Given the description of an element on the screen output the (x, y) to click on. 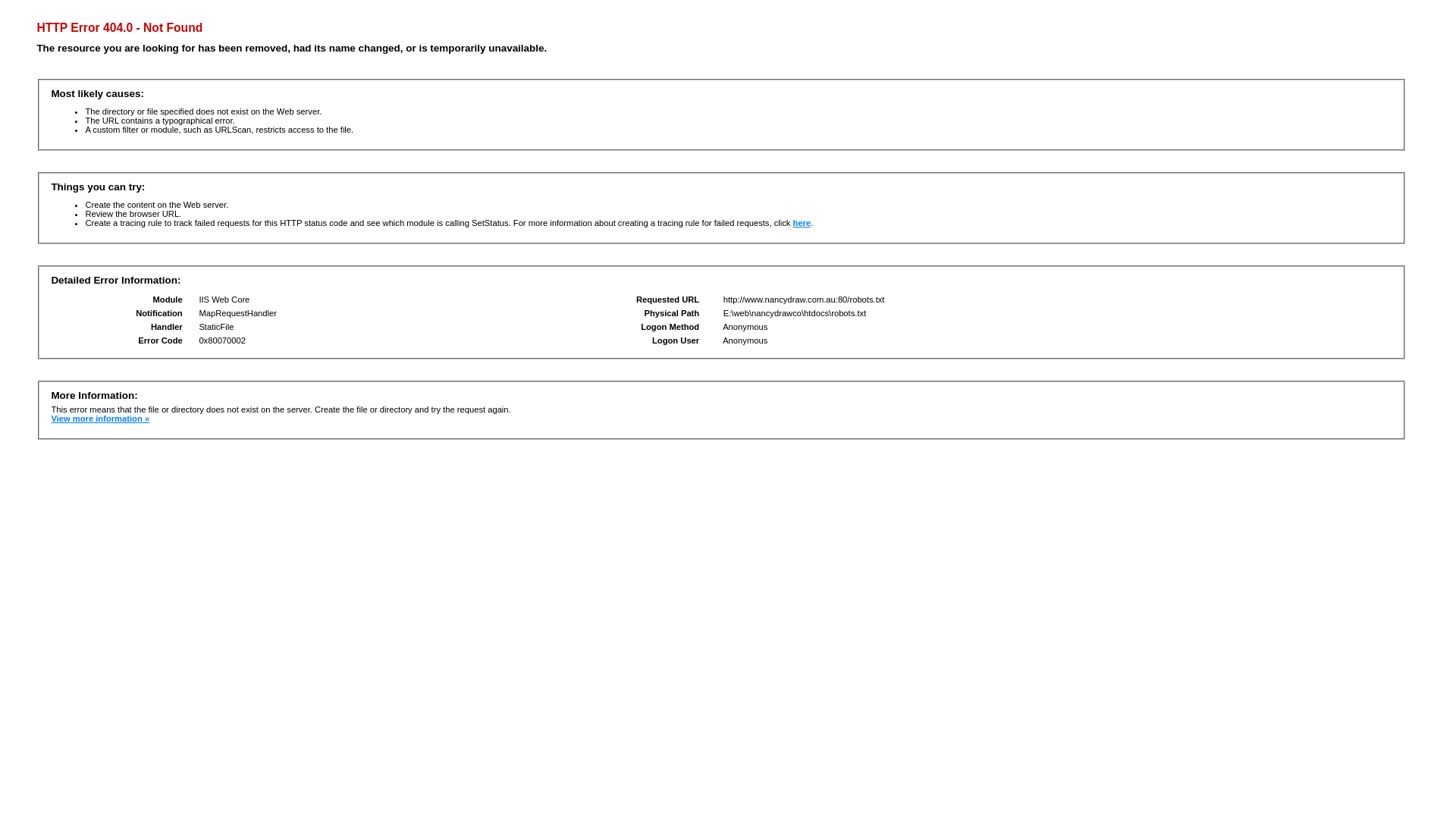
here Element type: text (802, 222)
